Given the description of an element on the screen output the (x, y) to click on. 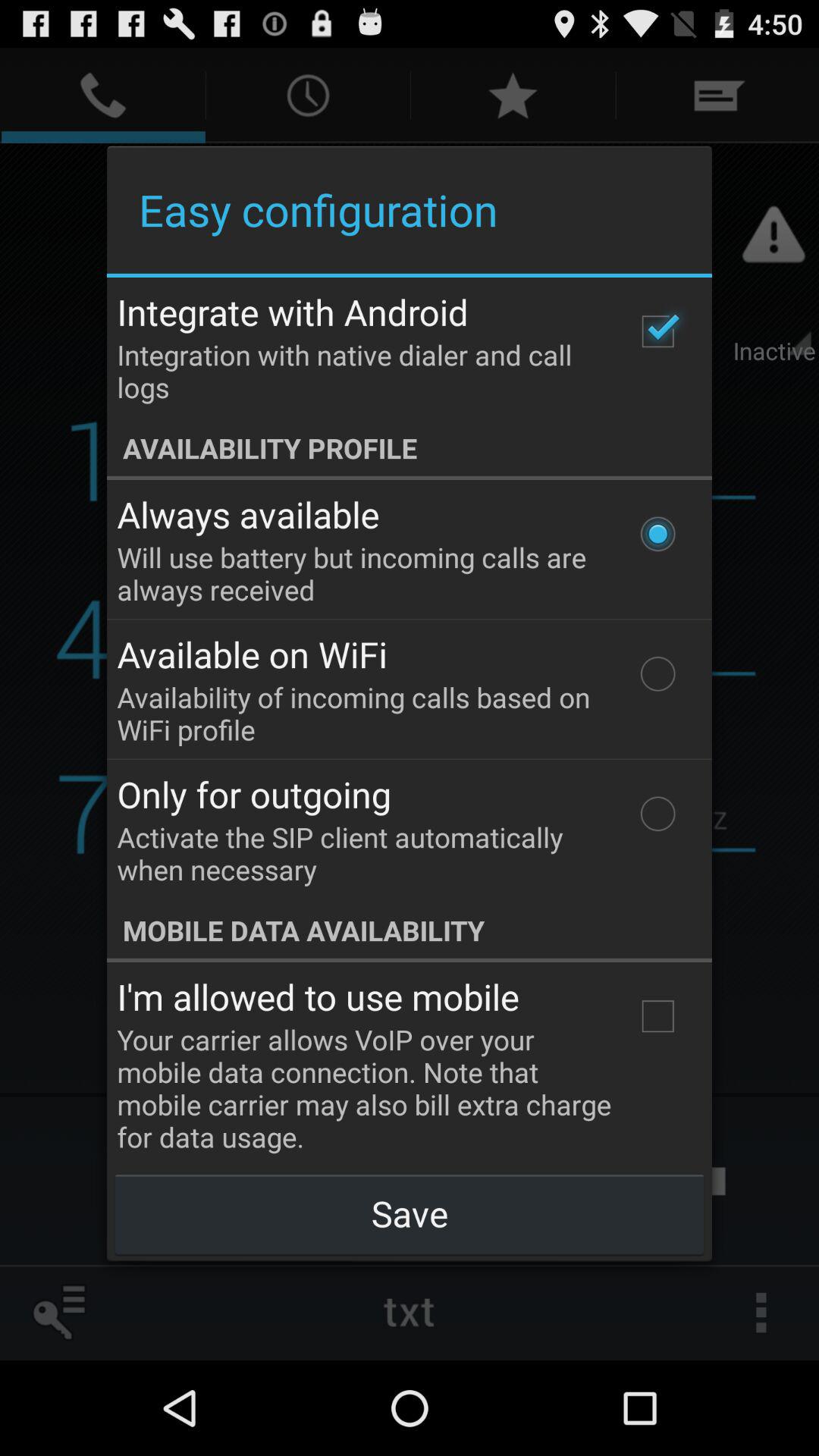
open icon at the bottom right corner (657, 1016)
